Given the description of an element on the screen output the (x, y) to click on. 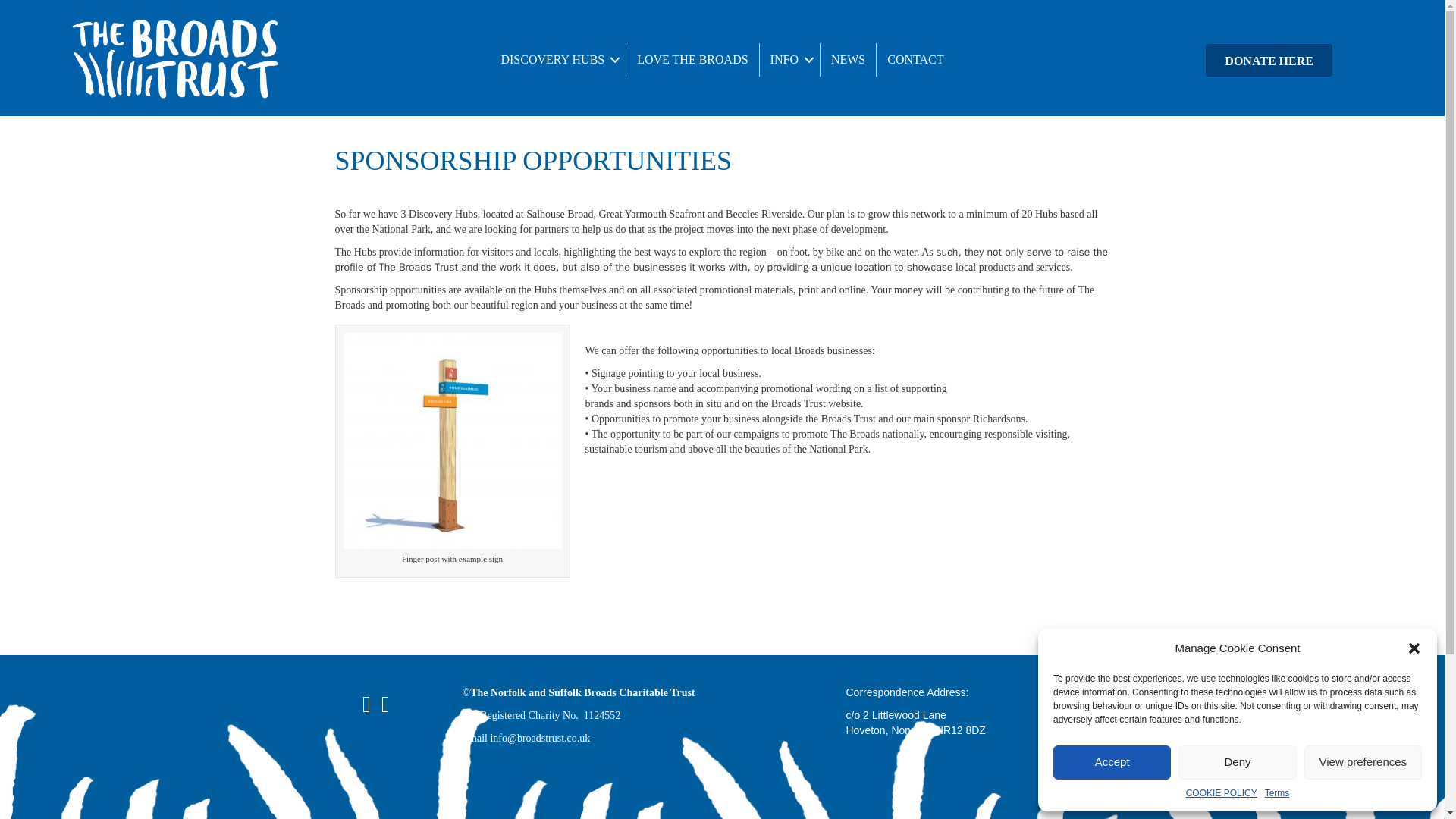
DISCOVERY HUBS (557, 59)
NEWS (848, 59)
View preferences (1363, 762)
Accept (1111, 762)
INFO (789, 59)
LOVE THE BROADS (692, 59)
Deny (1236, 762)
broads-trust-logo (175, 59)
COOKIE POLICY (1221, 793)
DONATE HERE (1268, 60)
